Given the description of an element on the screen output the (x, y) to click on. 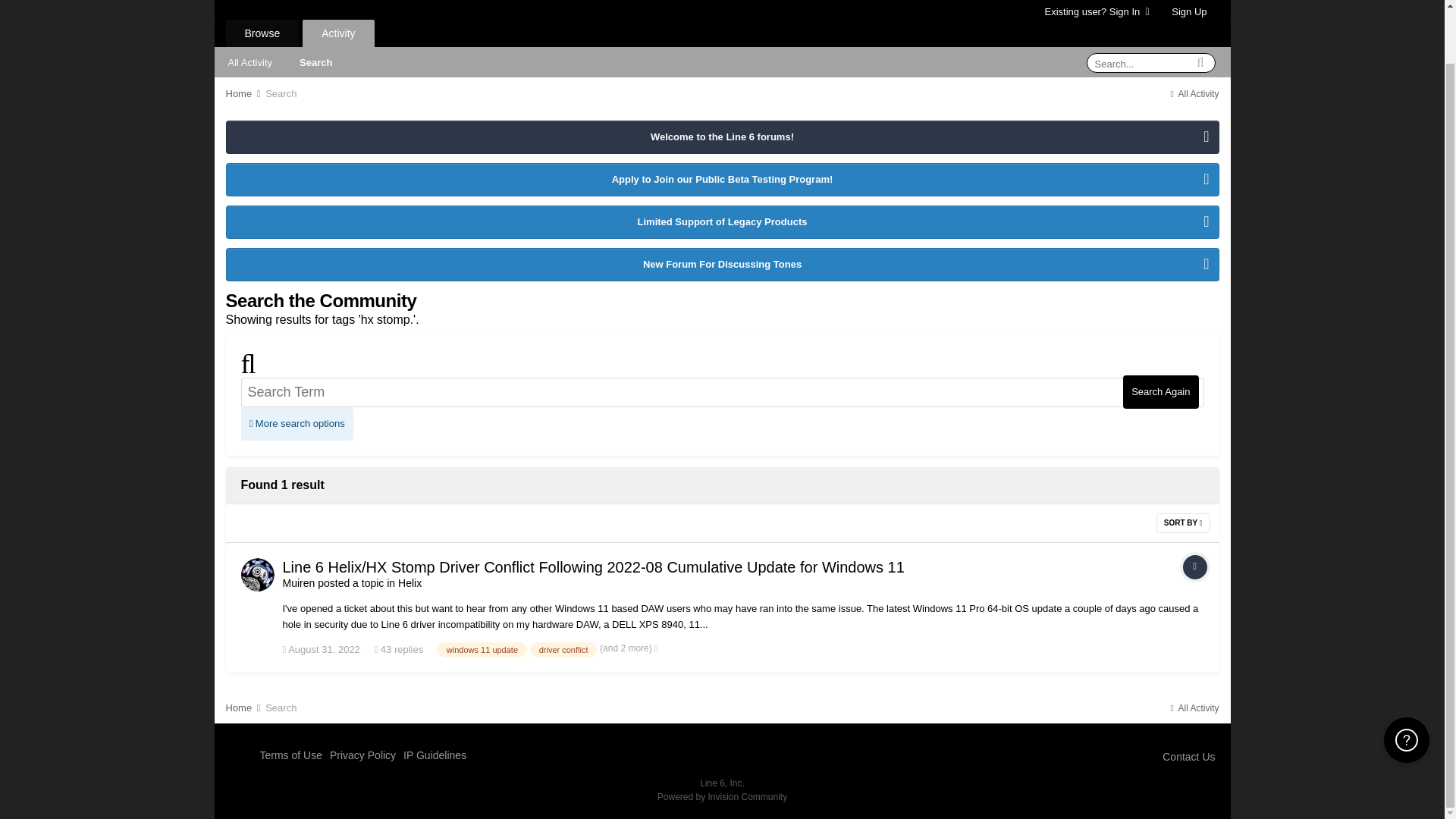
Home (244, 93)
Search (315, 61)
New Forum For Discussing Tones (721, 264)
Go to Muiren's profile (298, 582)
Welcome to the Line 6 forums! (721, 137)
Limited Support of Legacy Products (721, 222)
More search options (297, 423)
Browse (262, 32)
All Activity (1192, 93)
Apply to Join our Public Beta Testing Program! (721, 179)
